Given the description of an element on the screen output the (x, y) to click on. 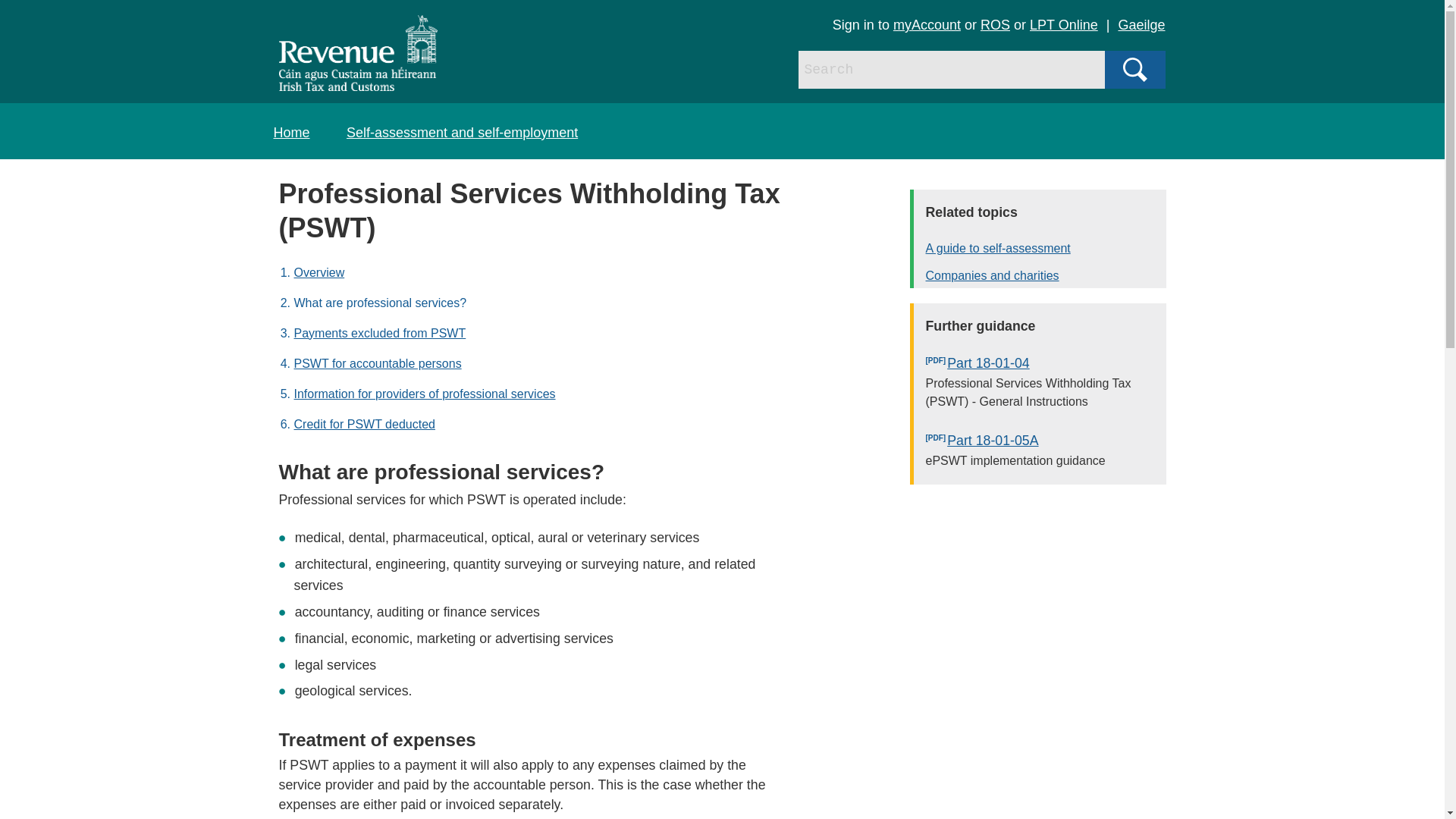
Credit for PSWT deducted (364, 423)
Revenue Irish Tax and Customs (358, 52)
Home (290, 131)
Companies and charities (1046, 275)
Part 18-01-05A (1046, 441)
Credit for PSWT deducted (364, 423)
myAccount (926, 24)
ROS (994, 24)
Part 18-01-05A (1046, 441)
Part 18-01-04 (1046, 363)
